Given the description of an element on the screen output the (x, y) to click on. 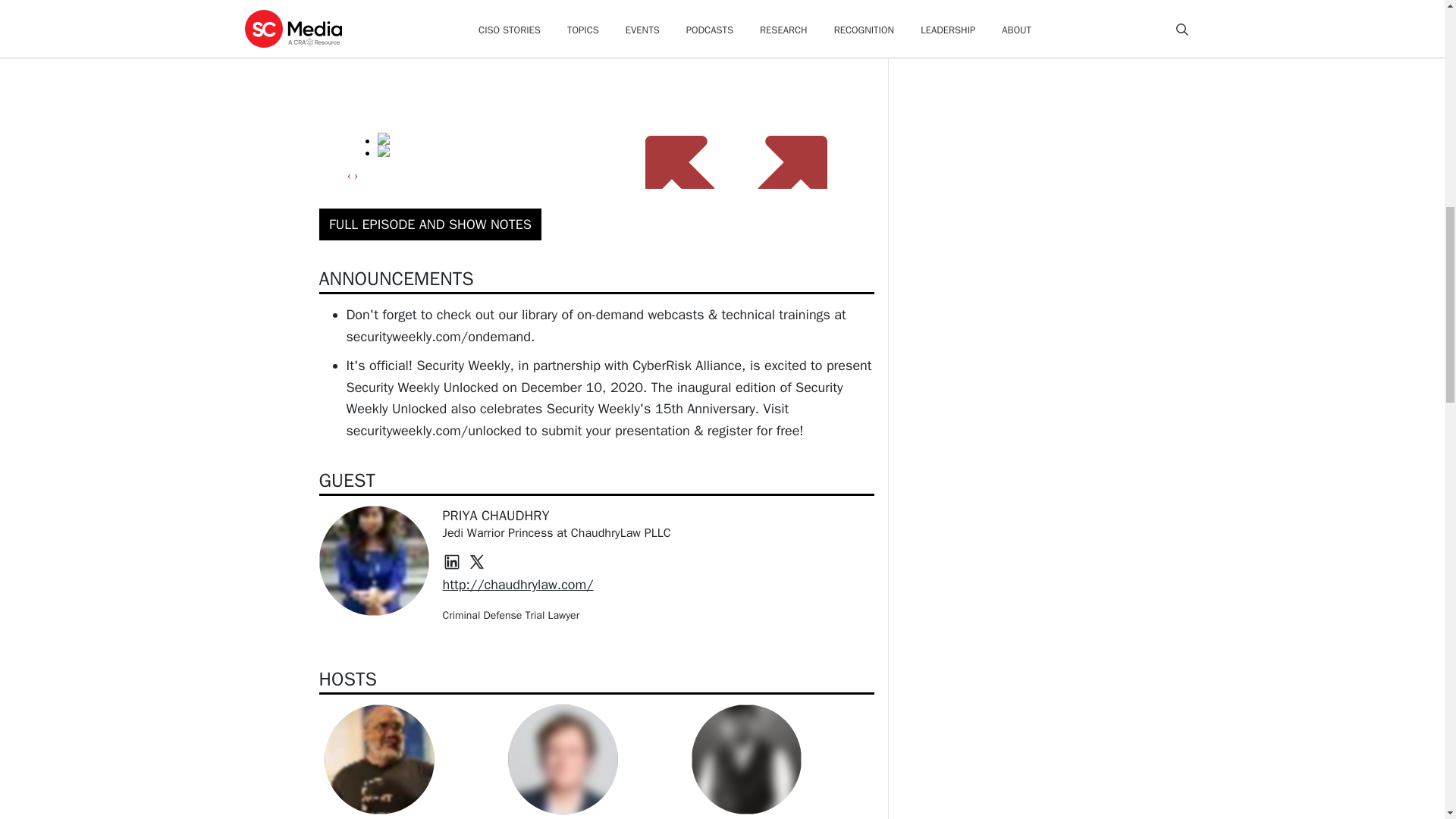
FULL EPISODE AND SHOW NOTES (429, 224)
